Given the description of an element on the screen output the (x, y) to click on. 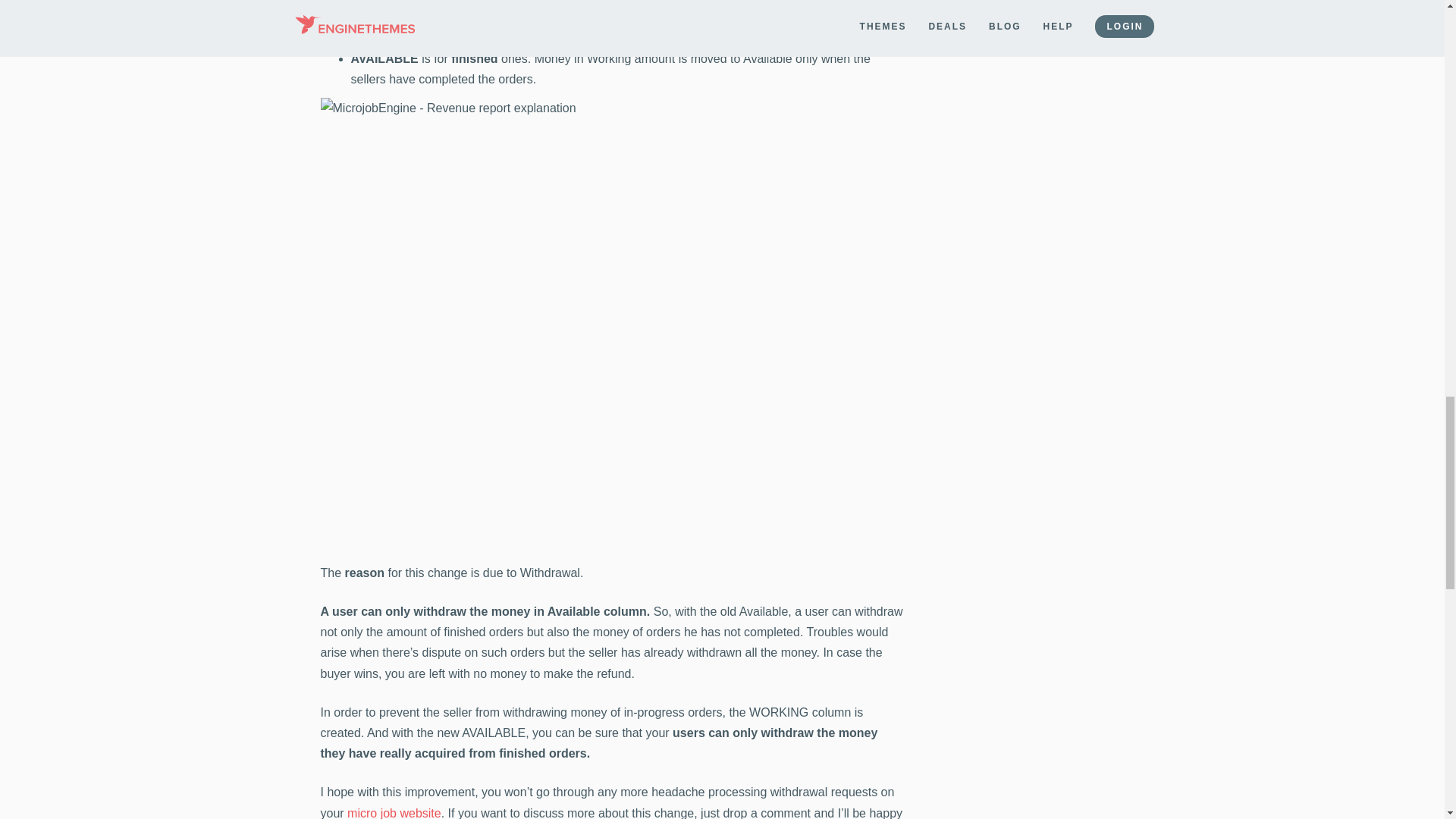
micro job website (394, 812)
